Given the description of an element on the screen output the (x, y) to click on. 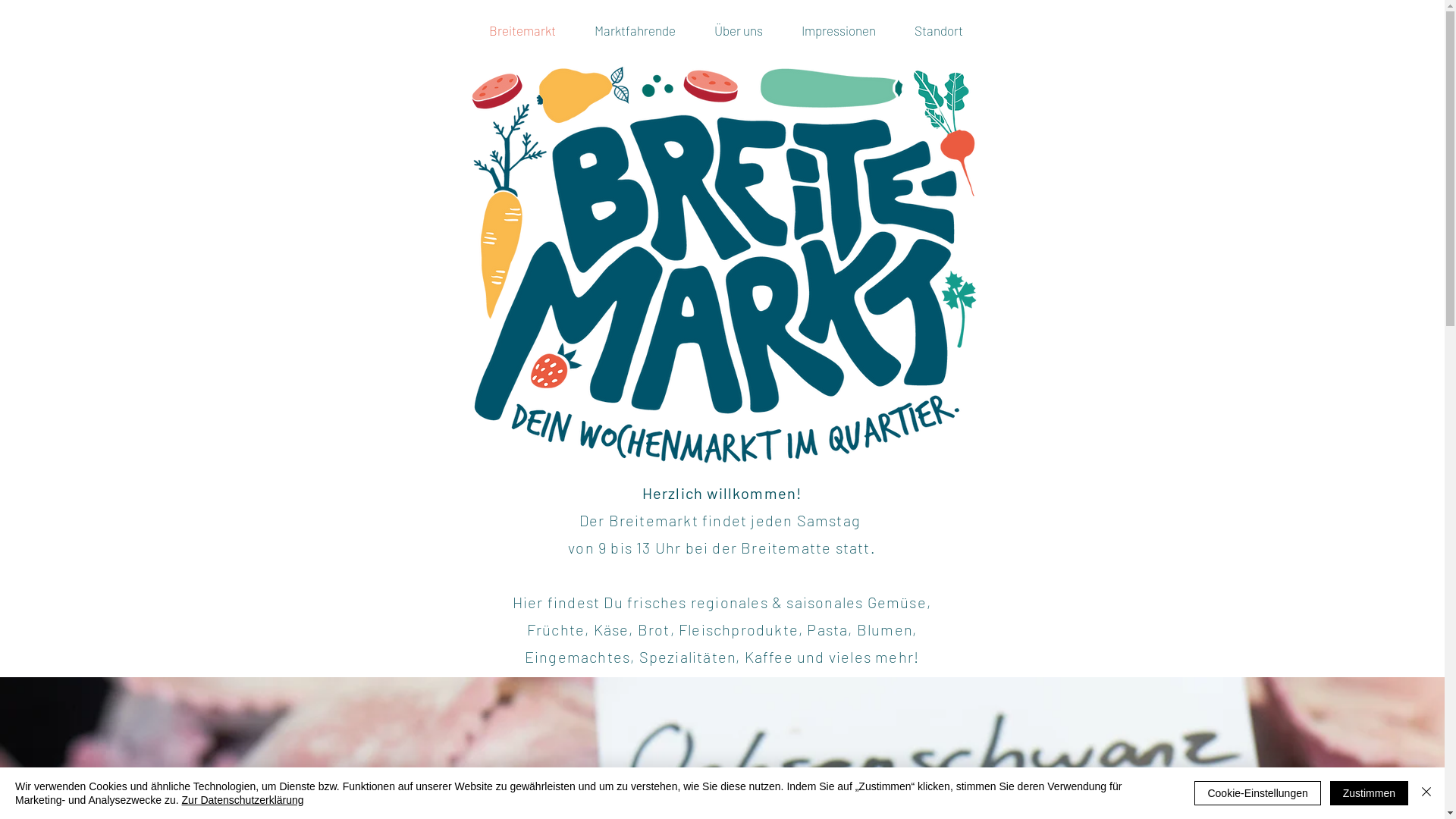
Cookie-Einstellungen Element type: text (1257, 793)
Marktfahrende Element type: text (634, 30)
Standort Element type: text (938, 30)
Breitemarkt Element type: text (522, 30)
Zustimmen Element type: text (1369, 793)
Impressionen Element type: text (838, 30)
